Given the description of an element on the screen output the (x, y) to click on. 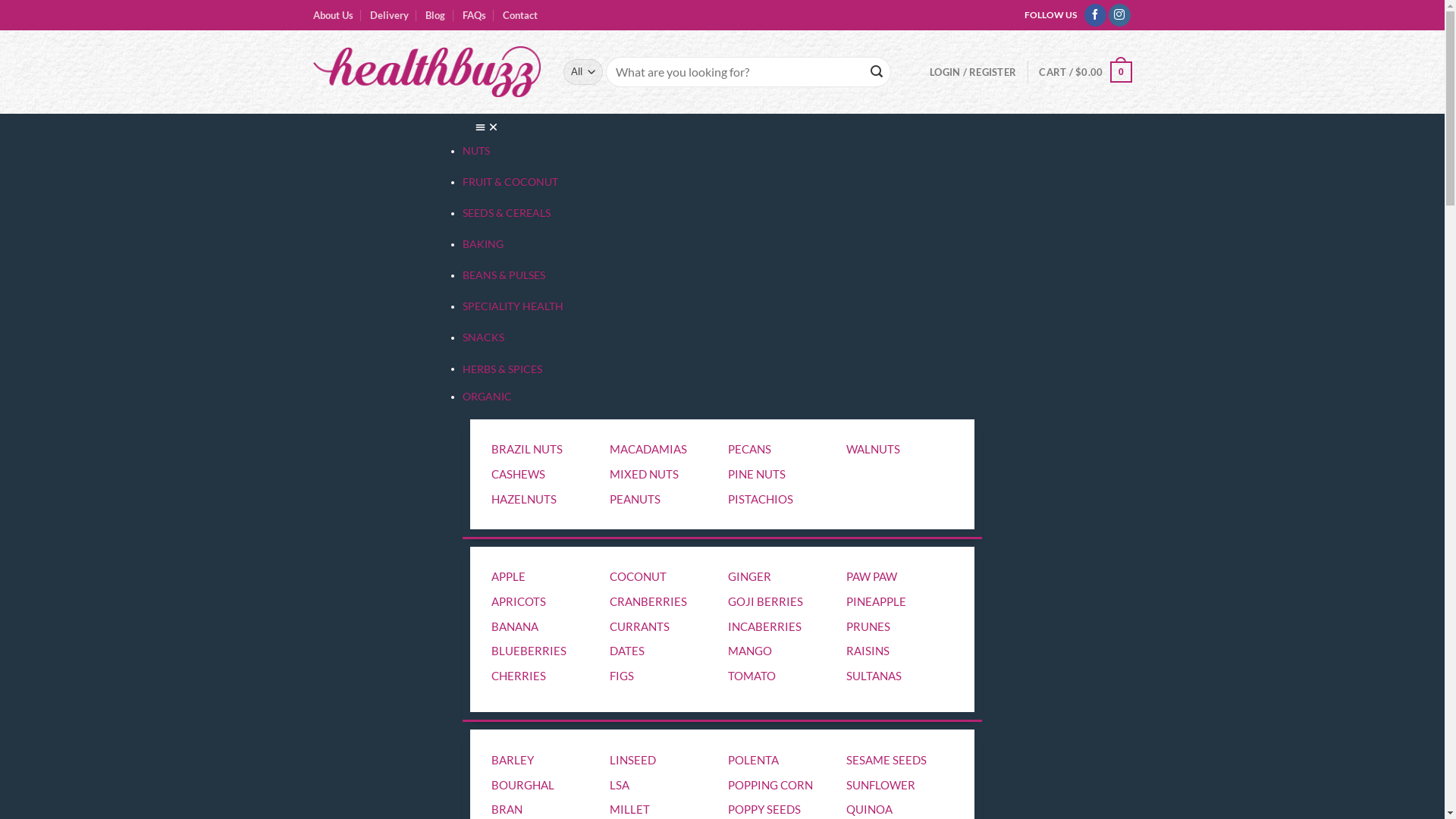
BANANA Element type: text (514, 625)
SESAME SEEDS Element type: text (886, 759)
LSA Element type: text (619, 784)
HAZELNUTS Element type: text (523, 498)
CASHEWS Element type: text (518, 473)
Delivery Element type: text (389, 14)
MACADAMIAS Element type: text (648, 448)
MANGO Element type: text (749, 650)
RAISINS Element type: text (867, 650)
MILLET Element type: text (629, 808)
LINSEED Element type: text (632, 759)
PINE NUTS Element type: text (756, 473)
DATES Element type: text (626, 650)
POPPING CORN Element type: text (770, 784)
BRAN Element type: text (506, 808)
BARLEY Element type: text (512, 759)
LOGIN / REGISTER Element type: text (972, 71)
CART / $0.00
0 Element type: text (1084, 71)
TOMATO Element type: text (751, 675)
PRUNES Element type: text (868, 625)
SNACKS Element type: text (484, 337)
PISTACHIOS Element type: text (760, 498)
FRUIT & COCONUT Element type: text (511, 181)
SUNFLOWER Element type: text (880, 784)
HERBS & SPICES Element type: text (503, 368)
APPLE Element type: text (508, 576)
SPECIALITY HEALTH Element type: text (513, 306)
POPPY SEEDS Element type: text (764, 808)
MIXED NUTS Element type: text (643, 473)
Submit Element type: text (39, 14)
GOJI BERRIES Element type: text (765, 601)
CHERRIES Element type: text (518, 675)
FAQs Element type: text (474, 14)
PECANS Element type: text (749, 448)
About Us Element type: text (332, 14)
PEANUTS Element type: text (634, 498)
BOURGHAL Element type: text (522, 784)
PAW PAW Element type: text (871, 576)
POLENTA Element type: text (753, 759)
SEEDS & CEREALS Element type: text (507, 213)
GINGER Element type: text (749, 576)
Search Element type: text (877, 71)
BEANS & PULSES Element type: text (504, 275)
SULTANAS Element type: text (873, 675)
CURRANTS Element type: text (639, 625)
NUTS Element type: text (477, 150)
QUINOA Element type: text (869, 808)
CRANBERRIES Element type: text (648, 601)
WALNUTS Element type: text (873, 448)
Blog Element type: text (435, 14)
COCONUT Element type: text (637, 576)
PINEAPPLE Element type: text (876, 601)
BRAZIL NUTS Element type: text (526, 448)
FIGS Element type: text (621, 675)
Health Buzz Element type: hover (425, 71)
ORGANIC Element type: text (486, 396)
BLUEBERRIES Element type: text (528, 650)
INCABERRIES Element type: text (764, 625)
BAKING Element type: text (483, 244)
Contact Element type: text (519, 14)
APRICOTS Element type: text (518, 601)
